Given the description of an element on the screen output the (x, y) to click on. 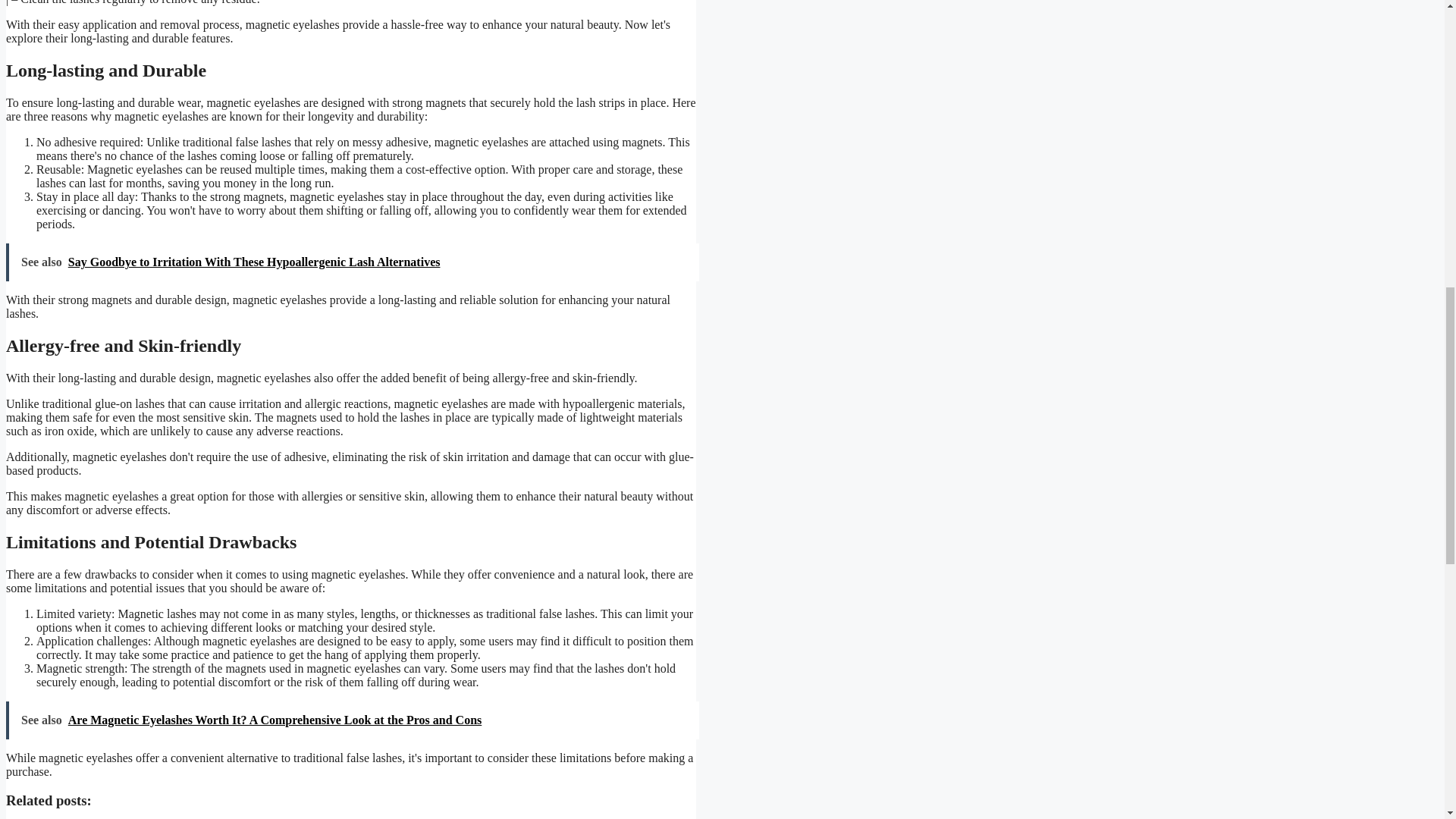
Scroll back to top (1406, 720)
